Given the description of an element on the screen output the (x, y) to click on. 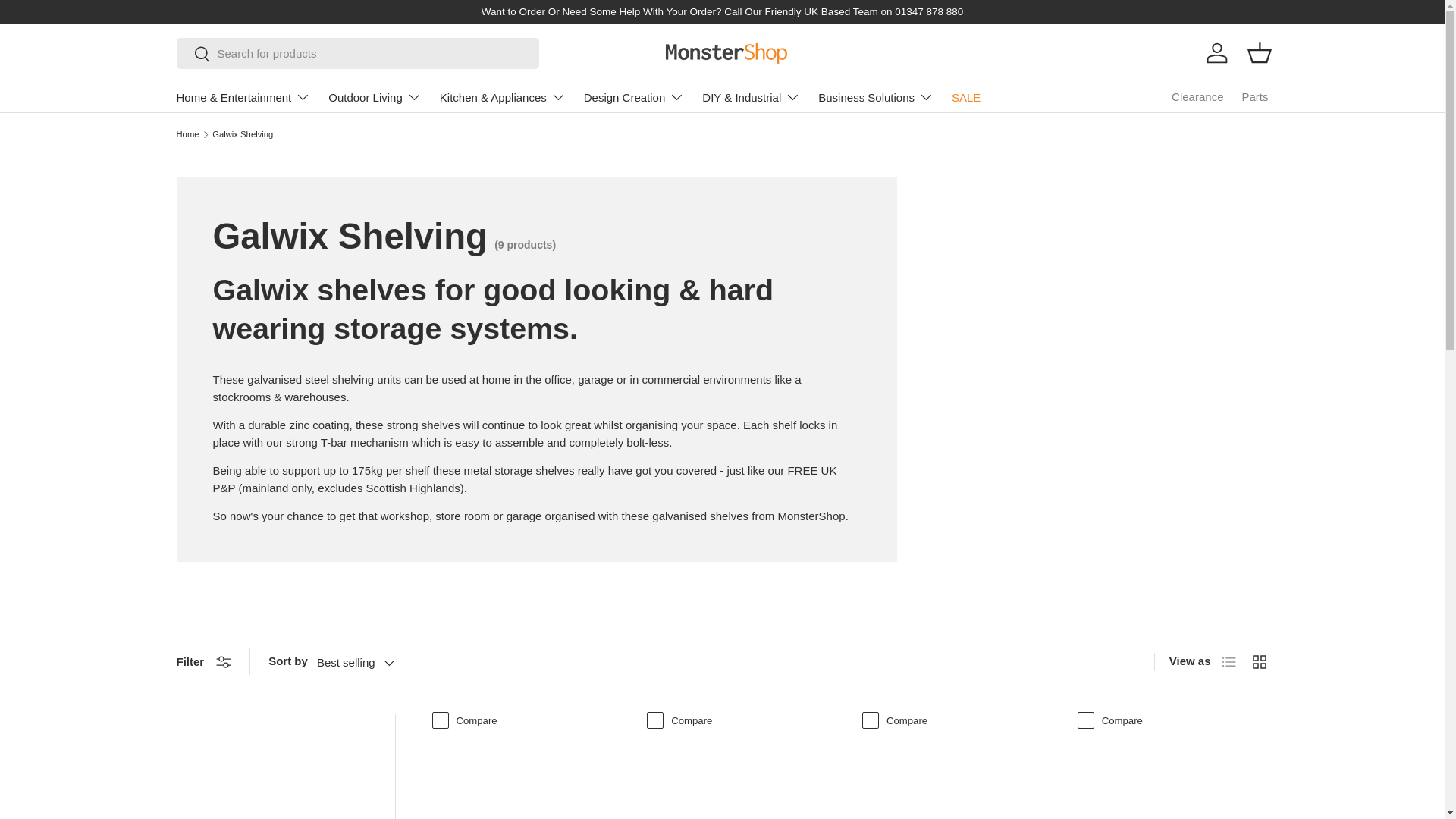
Basket (1258, 52)
Log in (1216, 52)
Search (192, 54)
SKIP TO CONTENT (68, 21)
